Given the description of an element on the screen output the (x, y) to click on. 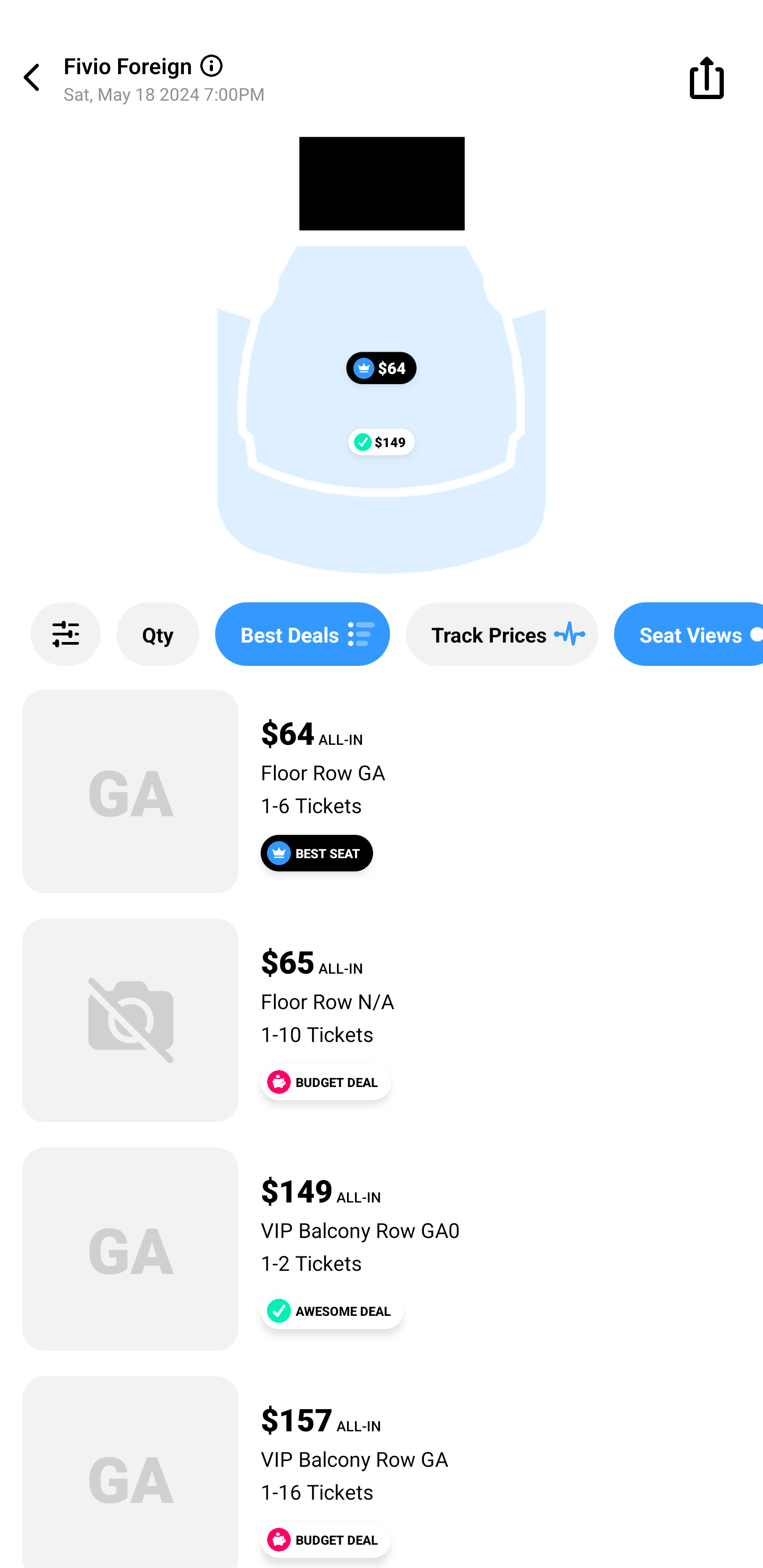
$64 (381, 367)
$149 (381, 441)
Qty (157, 634)
Best Deals (302, 634)
Track Prices (501, 634)
Seat Views (688, 634)
BEST SEAT (316, 852)
BUDGET DEAL (325, 1081)
AWESOME DEAL (331, 1310)
BUDGET DEAL (325, 1539)
